Given the description of an element on the screen output the (x, y) to click on. 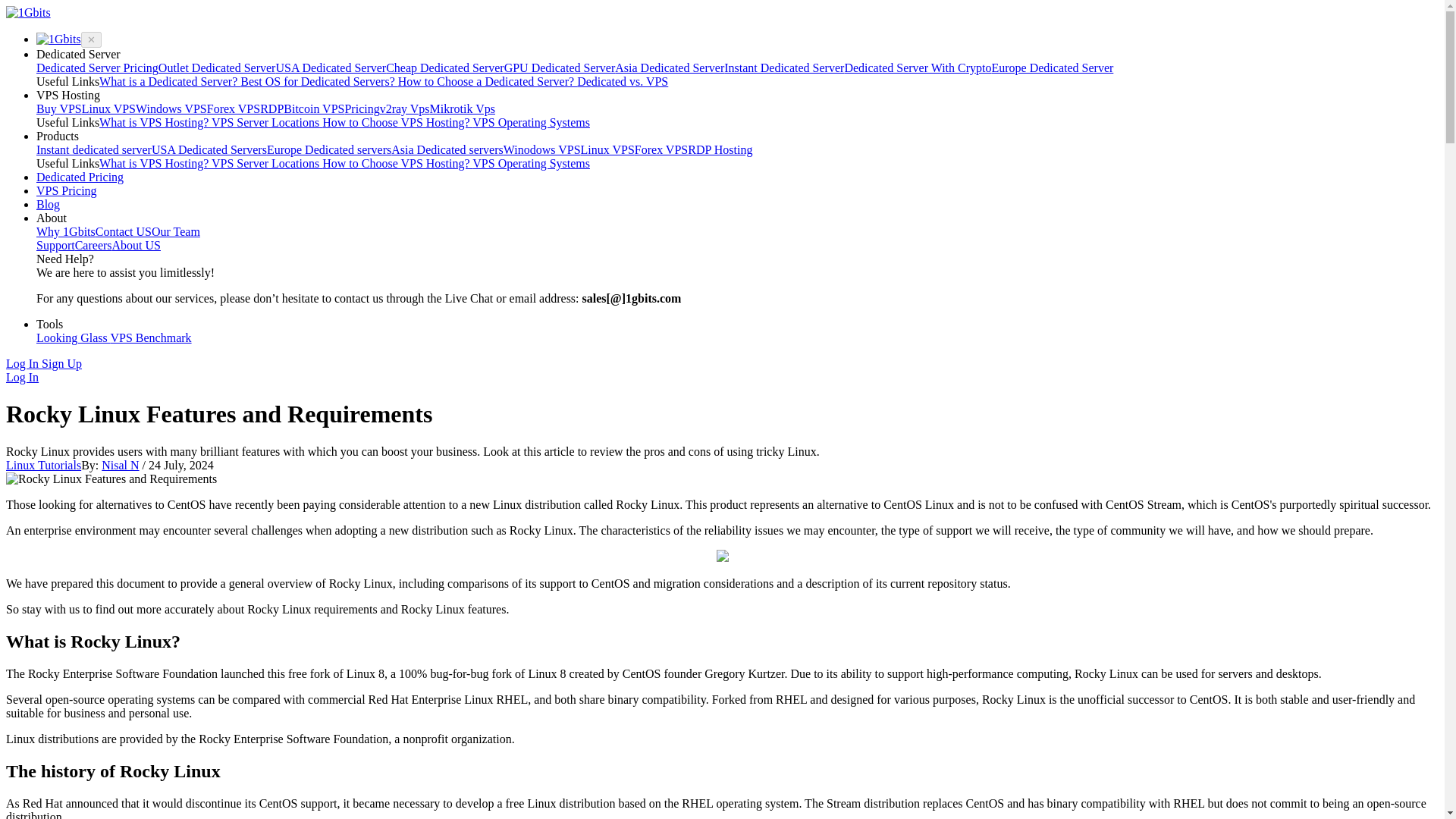
Best OS for Dedicated Servers? (318, 81)
Instant Dedicated Server (783, 67)
Linux VPS (108, 108)
Forex VPS (233, 108)
Pricing (360, 108)
Buy VPS (58, 108)
Linux VPS (607, 149)
USA Dedicated Server (330, 67)
Asia Dedicated Server (668, 67)
Outlet Dedicated Server (217, 67)
